Given the description of an element on the screen output the (x, y) to click on. 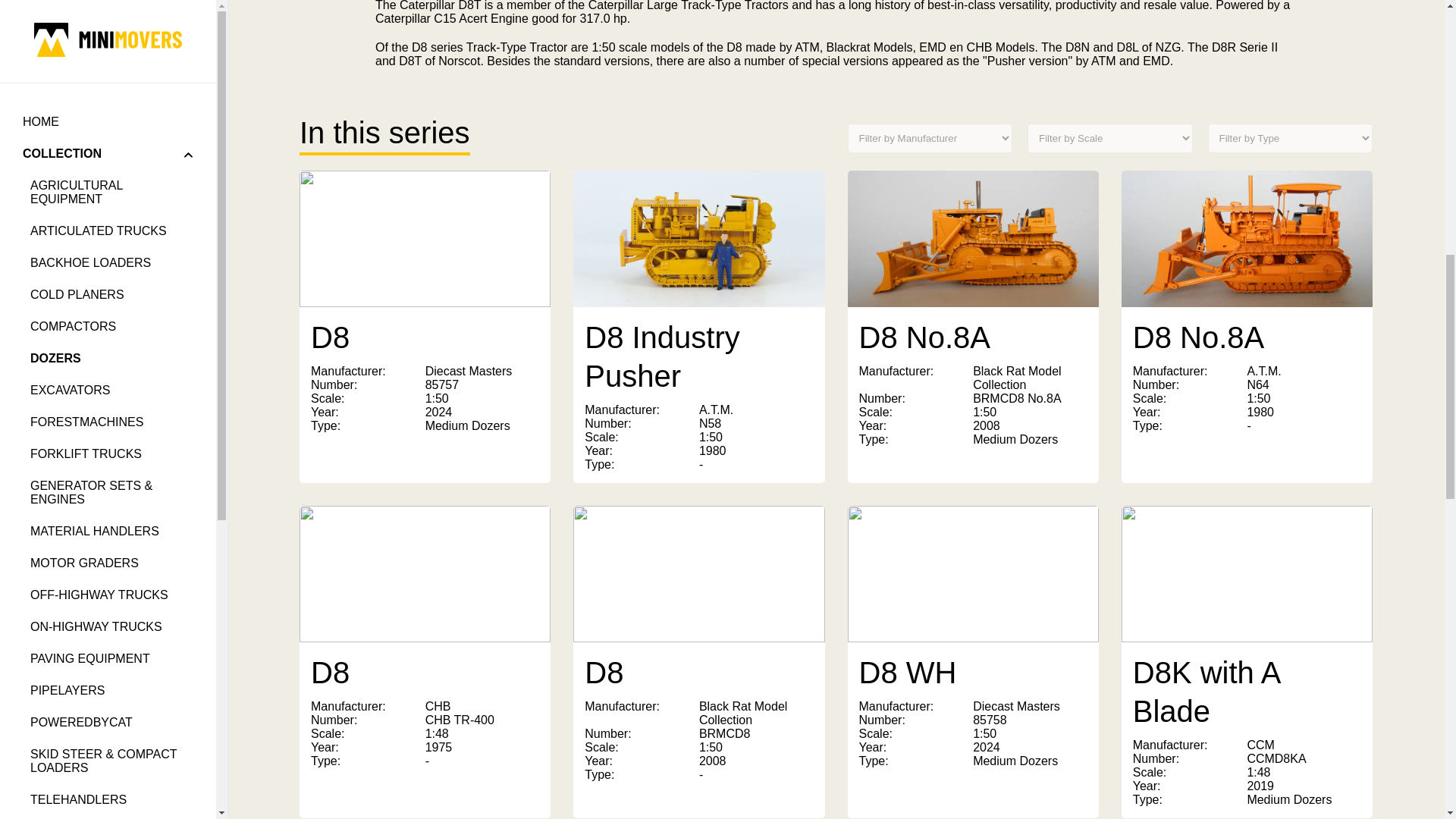
ABC (107, 249)
About Me (107, 391)
WHEEL DOZERS (111, 76)
MAKING-OF (107, 217)
NEWS (107, 185)
Contact (107, 422)
WHEEL TRACTOR-SCRAPERS (111, 146)
WHEEL LOADERS (111, 108)
UNDERGROUND MINING (111, 44)
TRACK LOADERS (111, 14)
